Given the description of an element on the screen output the (x, y) to click on. 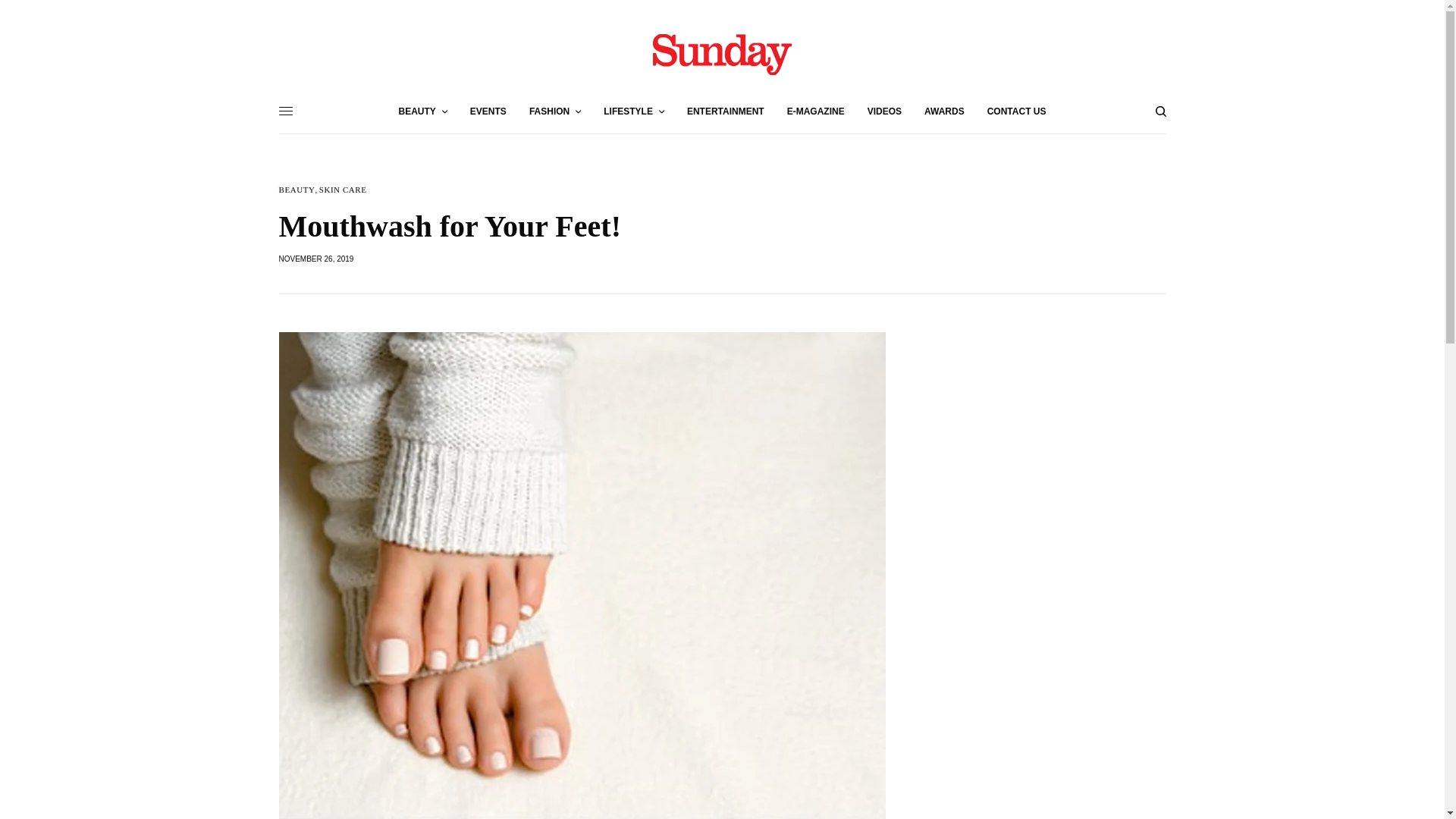
BEAUTY (297, 189)
Sunday (722, 53)
CONTACT US (1016, 110)
BEAUTY (422, 110)
SKIN CARE (342, 189)
E-MAGAZINE (815, 110)
ENTERTAINMENT (725, 110)
LIFESTYLE (633, 110)
FASHION (554, 110)
